Given the description of an element on the screen output the (x, y) to click on. 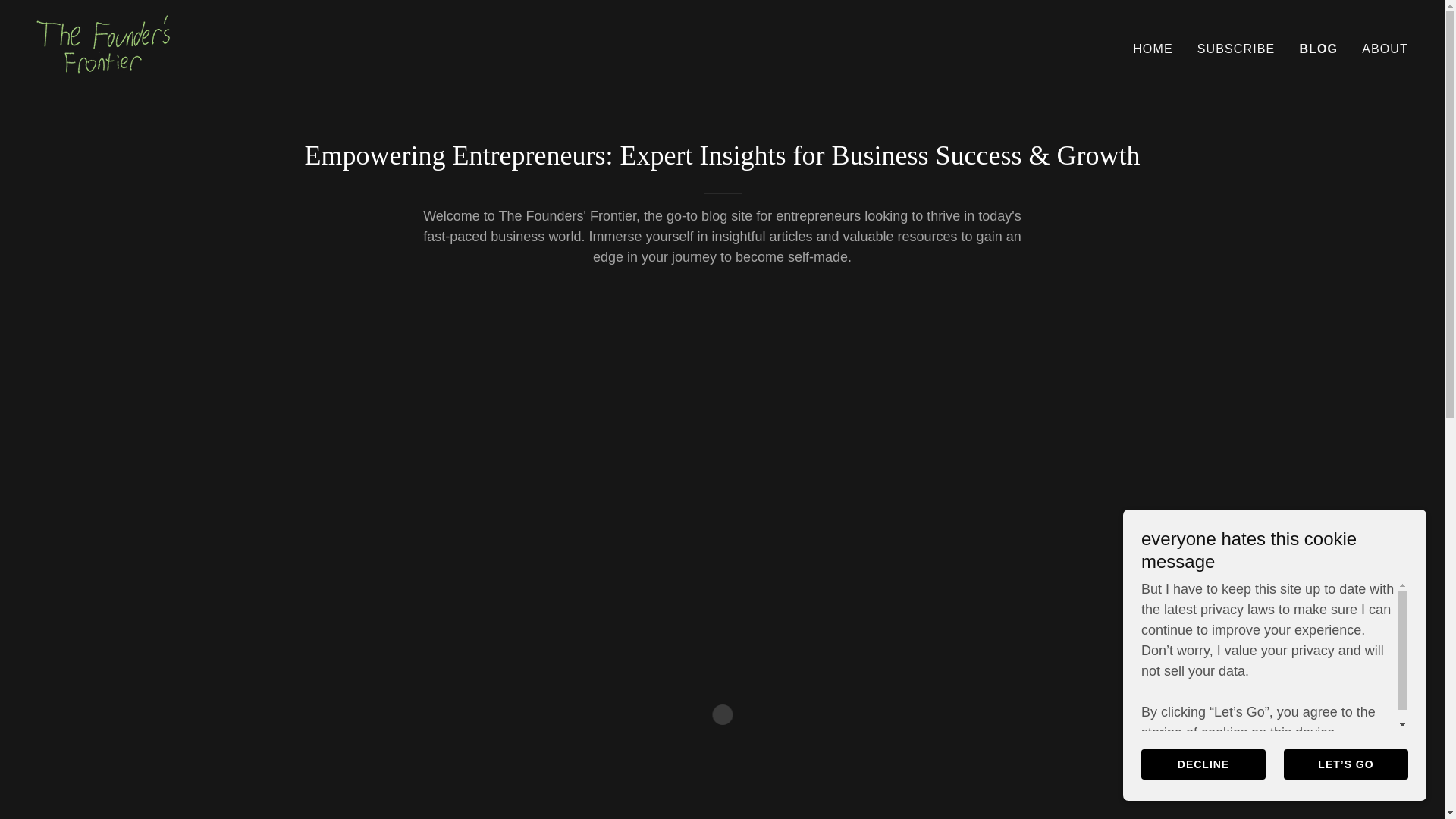
ABOUT (1384, 48)
BLOG (1318, 48)
HOME (1152, 48)
SUBSCRIBE (1235, 48)
DECLINE (1203, 764)
